Given the description of an element on the screen output the (x, y) to click on. 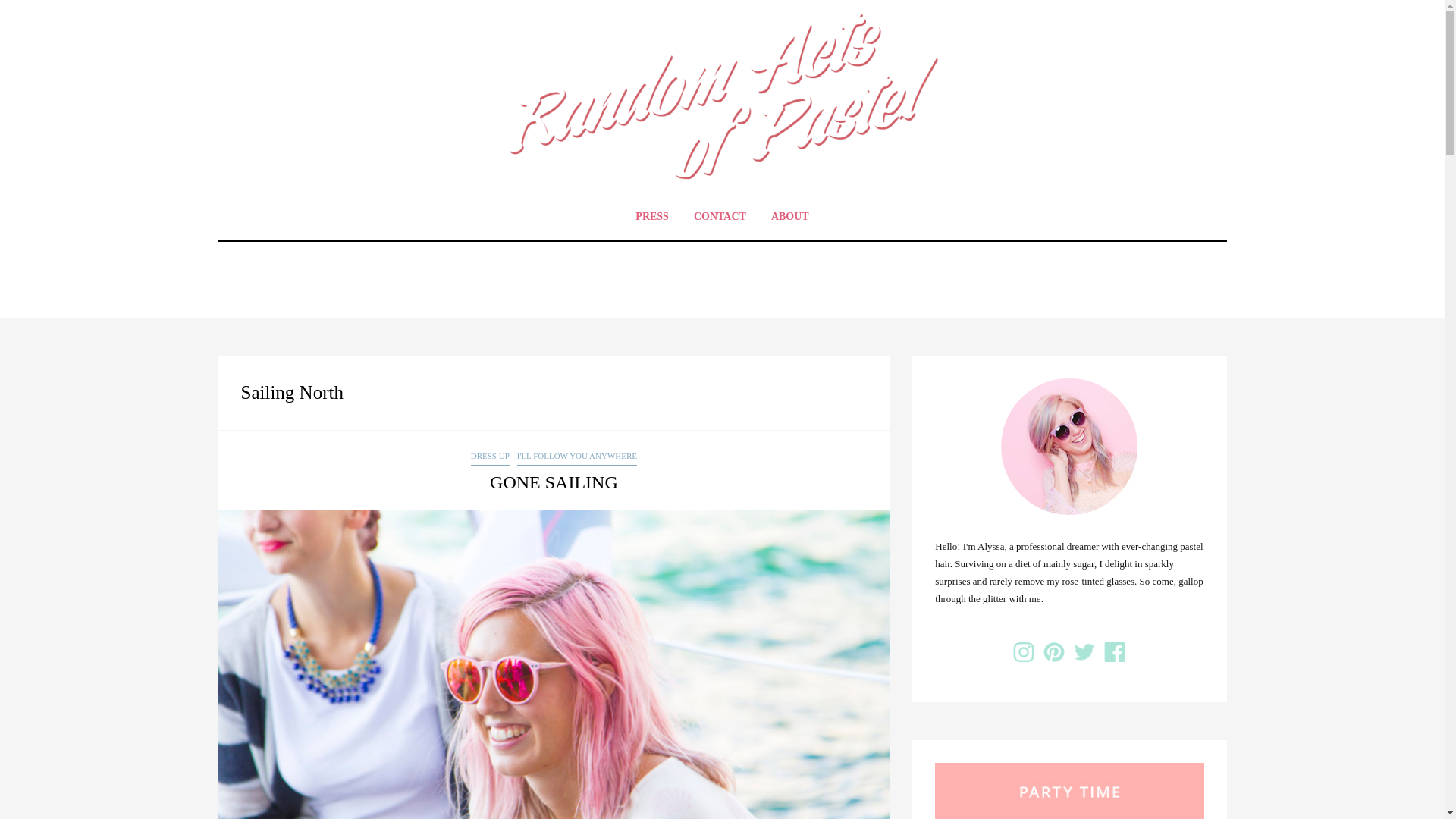
CONTACT (719, 216)
DRESS UP (489, 456)
PRESS (651, 216)
GONE SAILING (553, 482)
Search (31, 13)
ABOUT (790, 216)
I'LL FOLLOW YOU ANYWHERE (576, 456)
